Given the description of an element on the screen output the (x, y) to click on. 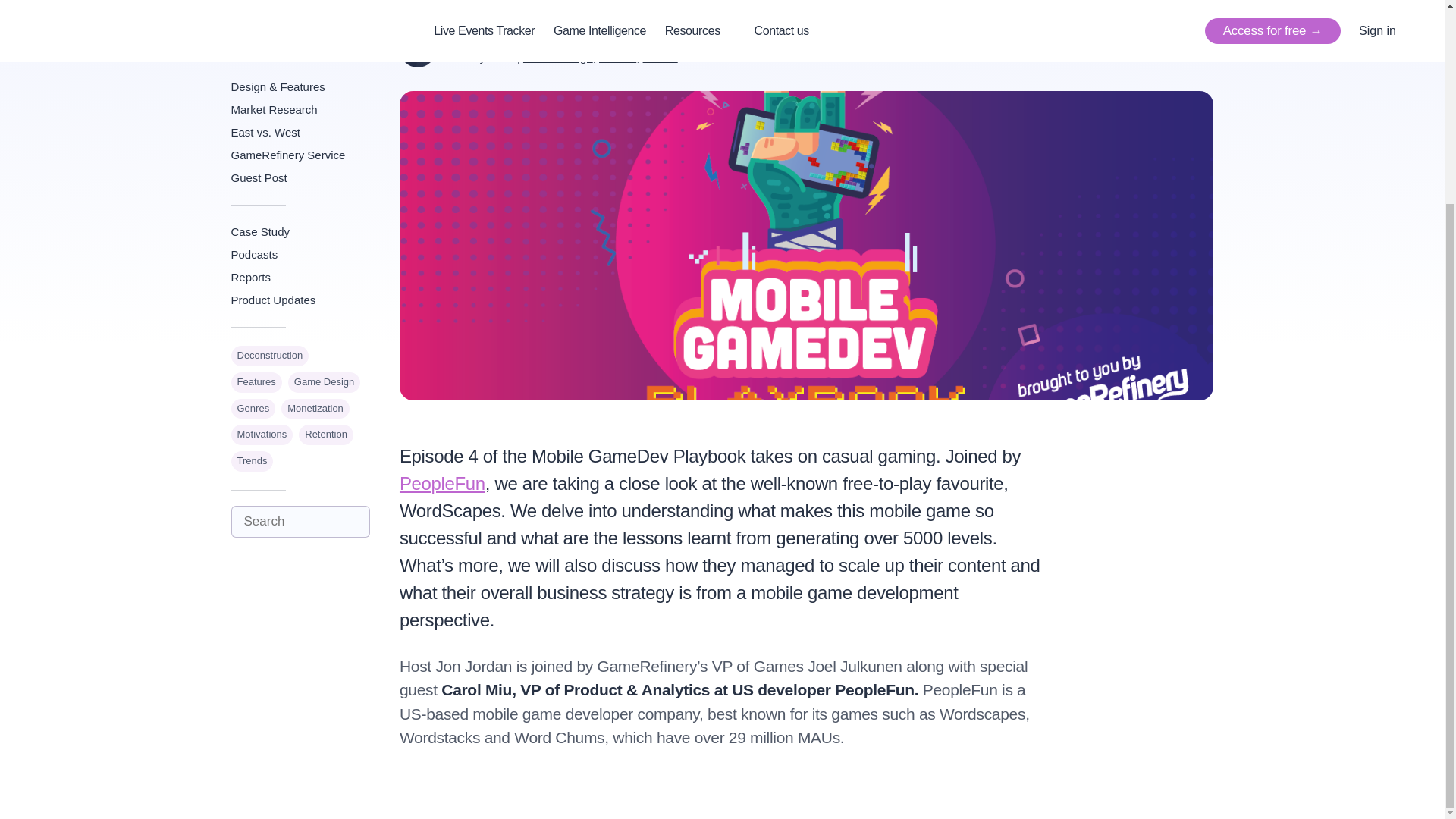
Trends (660, 56)
PeopleFun (441, 483)
Podcasts (299, 62)
Game Design (557, 56)
Retention (325, 242)
Product Updates (299, 108)
Reports (299, 85)
Monetization (315, 217)
Deconstruction (269, 163)
Trends (251, 269)
Features (255, 190)
Case Study (299, 39)
Genres (252, 217)
Motivations (261, 242)
Game Design (323, 190)
